Given the description of an element on the screen output the (x, y) to click on. 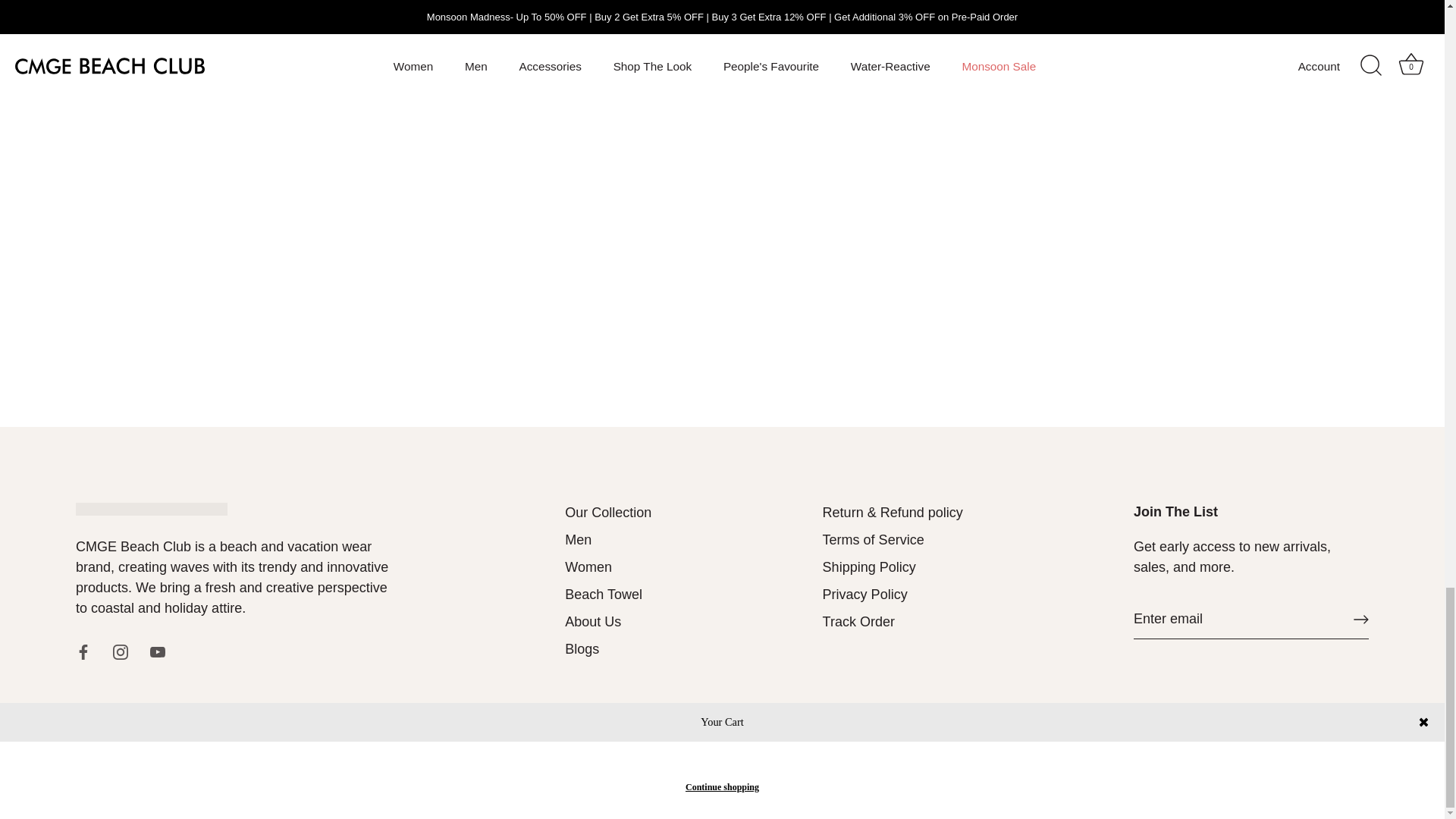
Youtube (157, 535)
Instagram (120, 535)
RIGHT ARROW LONG (1361, 503)
